Given the description of an element on the screen output the (x, y) to click on. 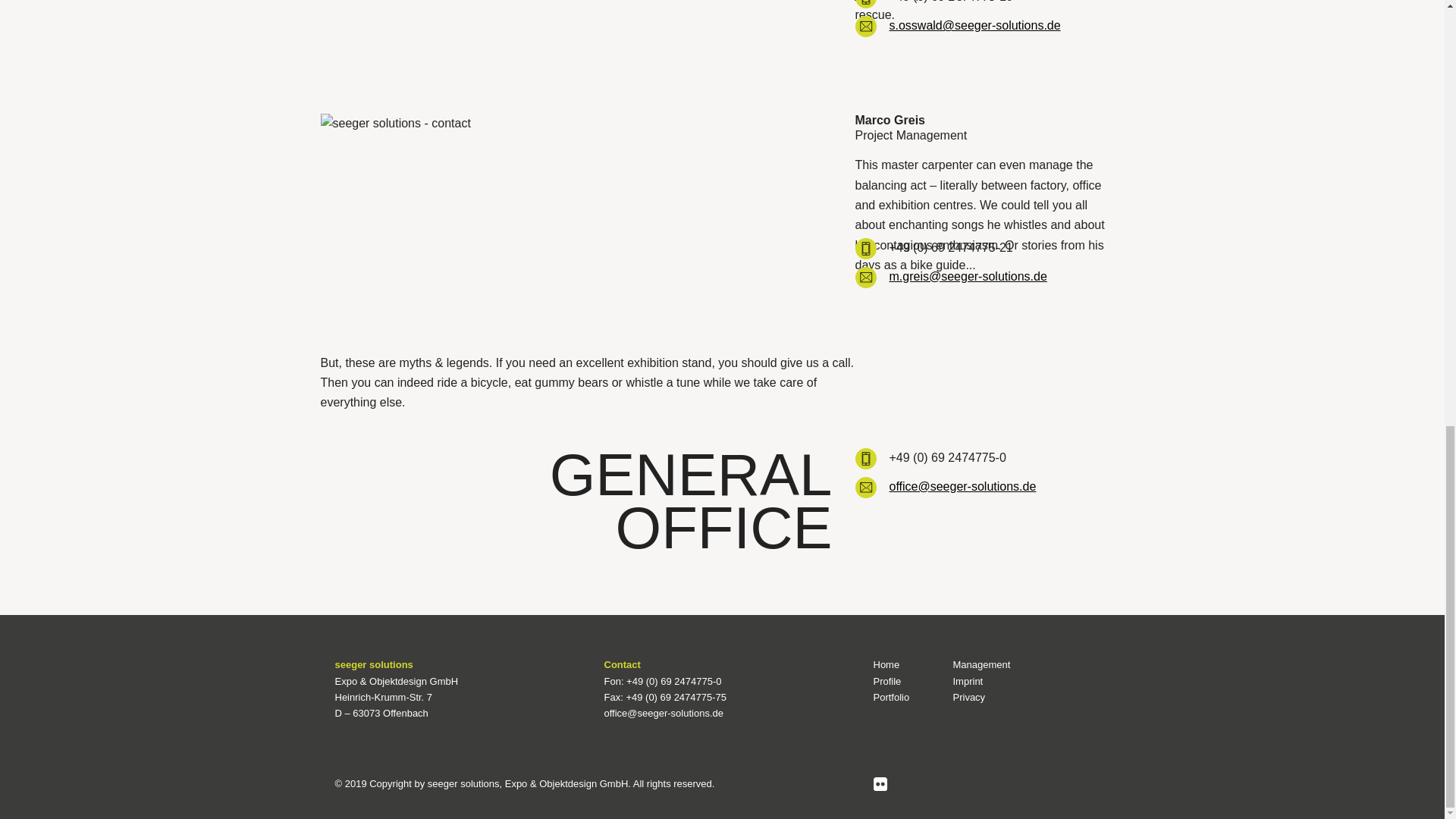
Home (886, 664)
Privacy (968, 696)
Profile (887, 681)
Management (981, 664)
Portfolio (891, 696)
Imprint (967, 681)
